Given the description of an element on the screen output the (x, y) to click on. 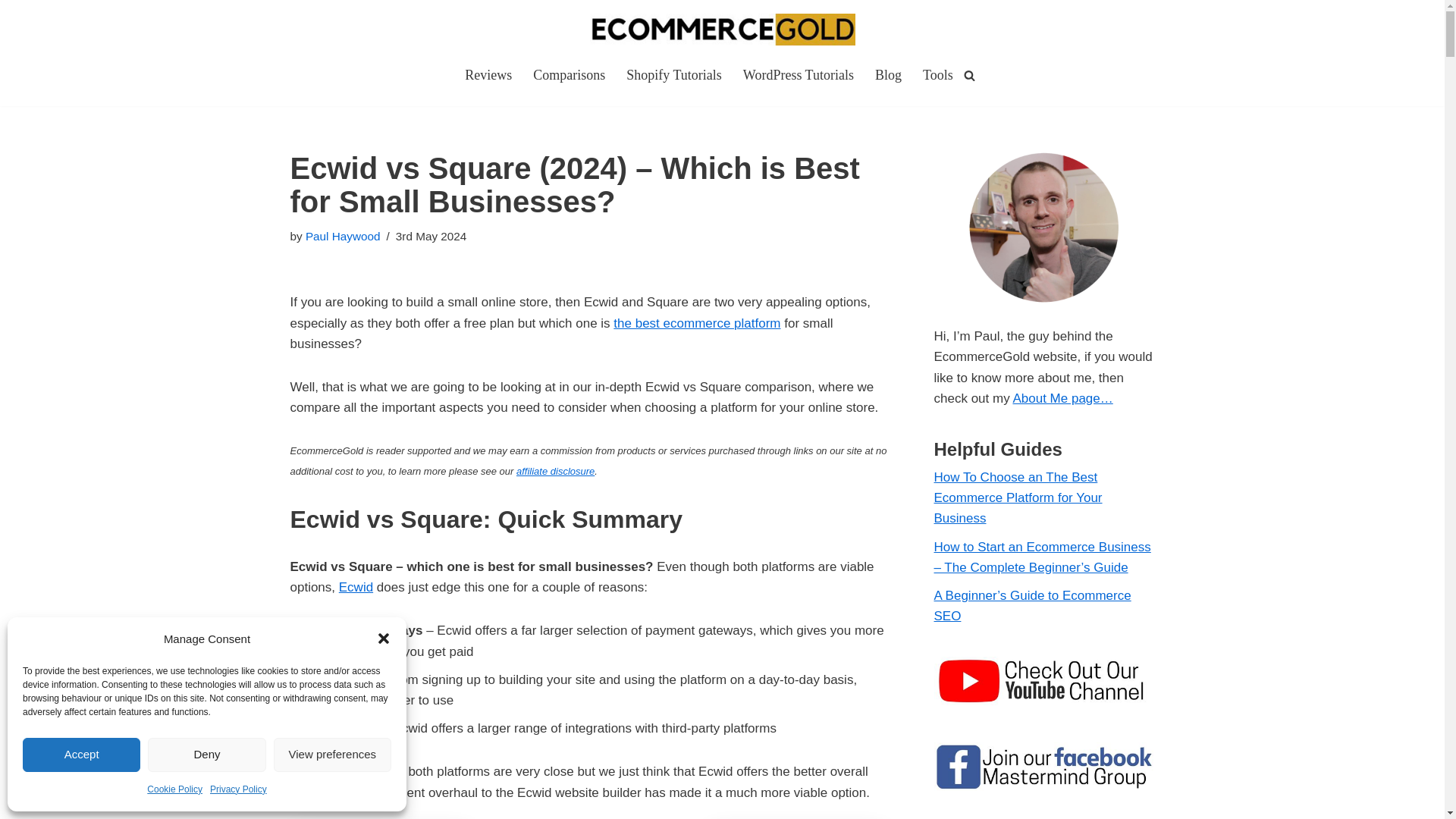
Tools (938, 75)
Cookie Policy (174, 789)
Ecwid (355, 586)
Shopify Tutorials (674, 75)
Deny (206, 754)
WordPress Tutorials (797, 75)
Comparisons (568, 75)
Paul Haywood (342, 236)
affiliate disclosure (555, 471)
Skip to content (11, 31)
